Given the description of an element on the screen output the (x, y) to click on. 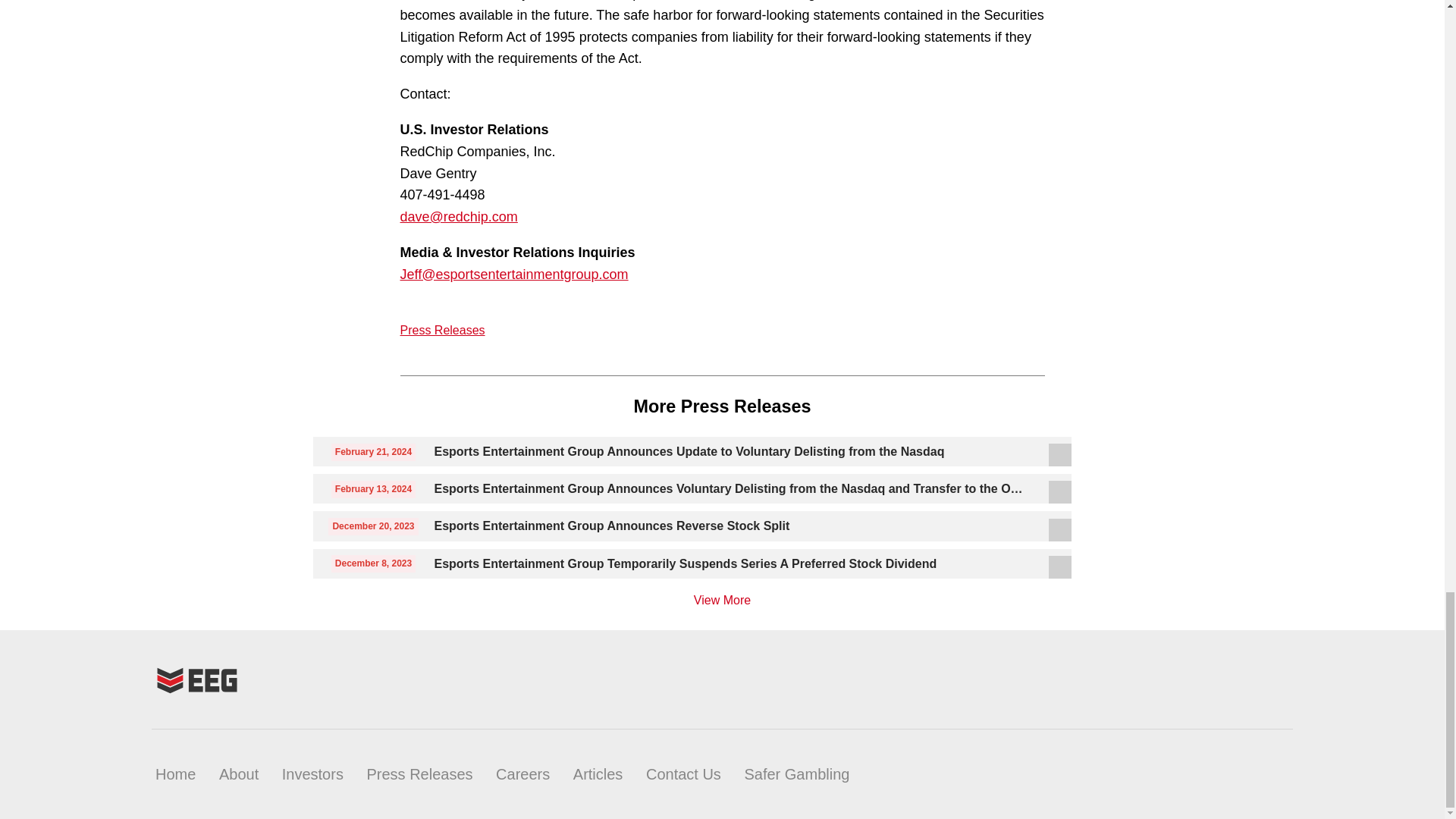
About (239, 773)
Esports Entertainment Group Announces Reverse Stock Split  (731, 525)
Home (175, 773)
Press Releases (442, 329)
Safer Gambling (796, 773)
Careers (523, 773)
Contact Us (683, 773)
Press Releases (418, 773)
Investors (312, 773)
Articles (598, 773)
View More (721, 600)
